Given the description of an element on the screen output the (x, y) to click on. 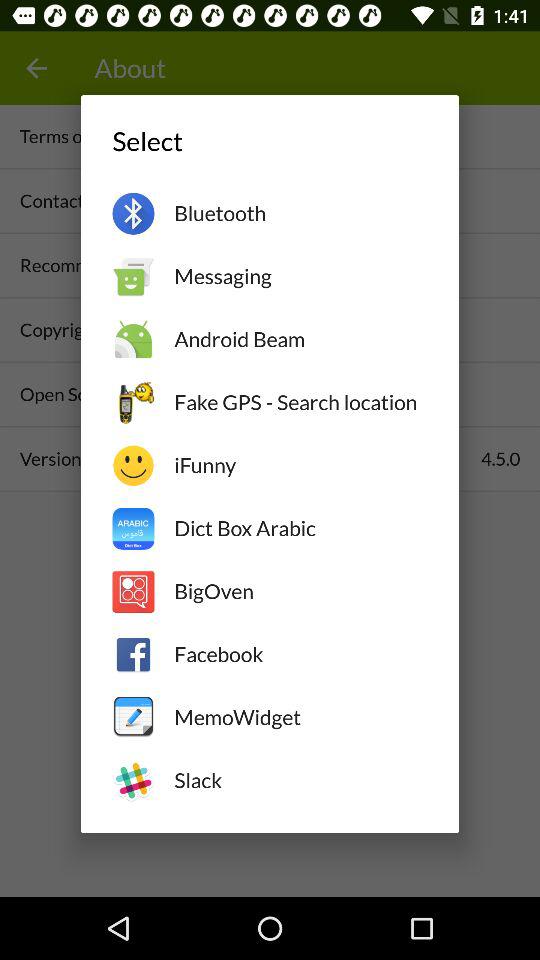
turn on facebook item (300, 654)
